Given the description of an element on the screen output the (x, y) to click on. 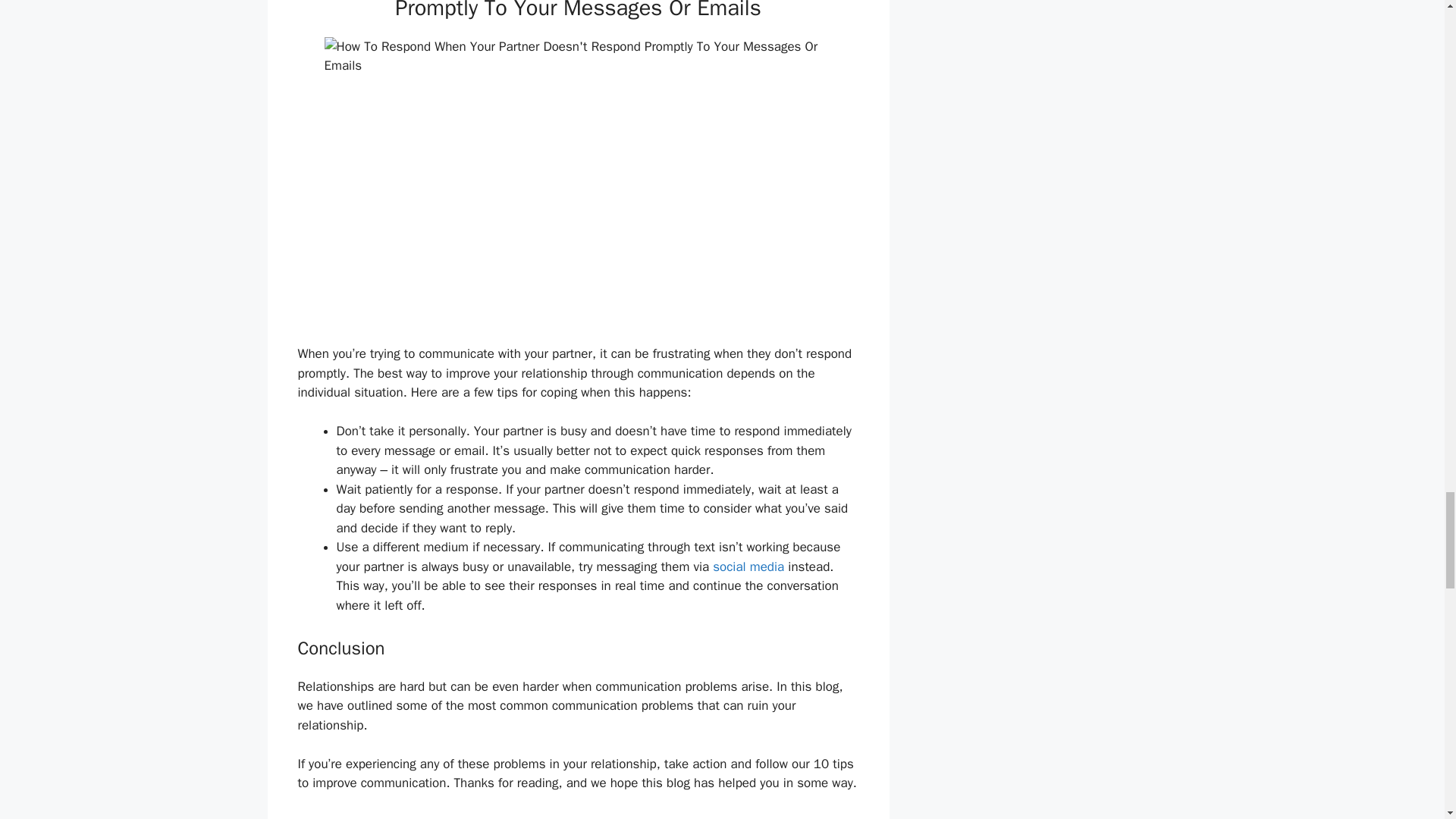
social media (746, 566)
